Given the description of an element on the screen output the (x, y) to click on. 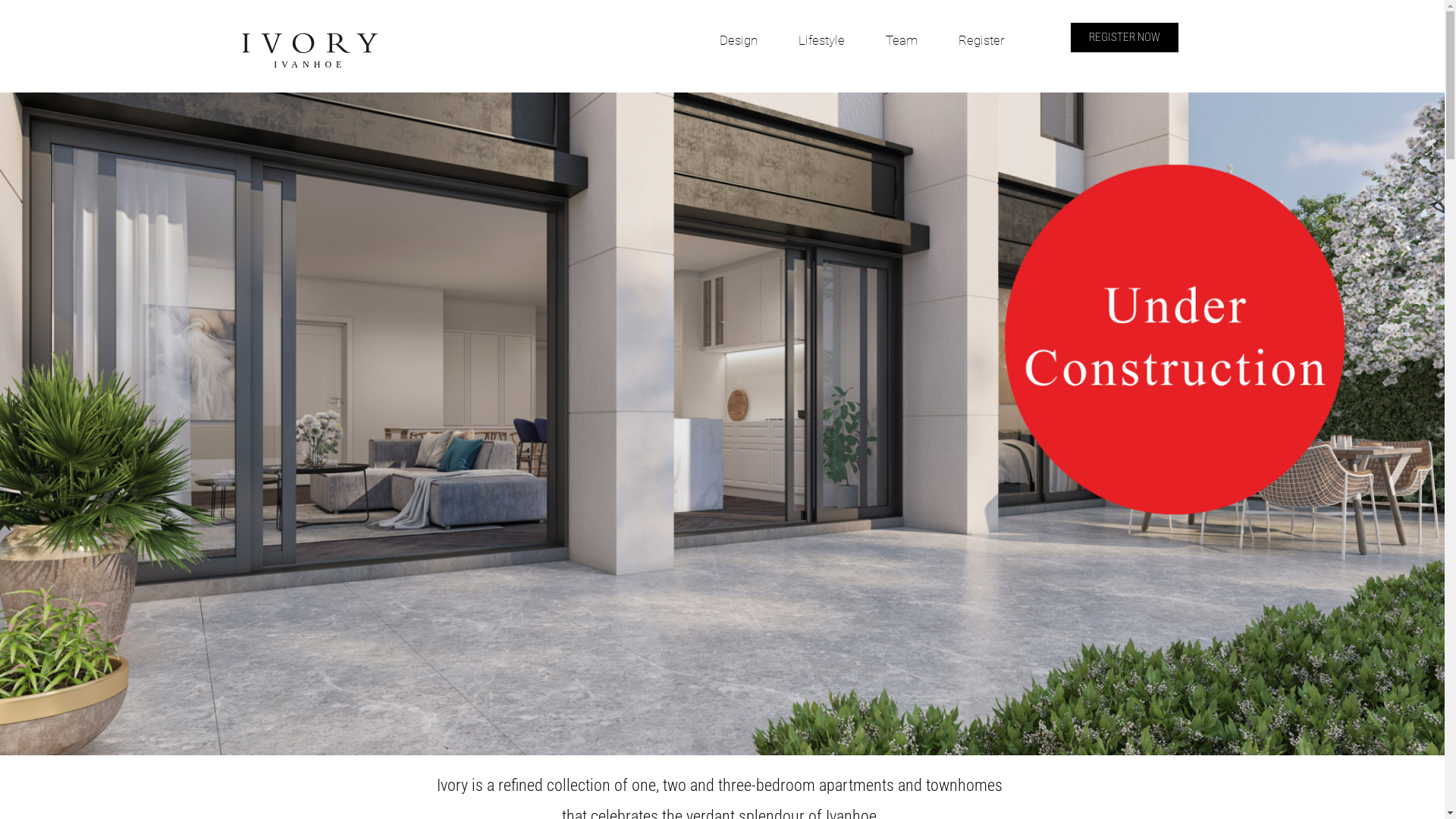
Register Element type: text (981, 39)
REGISTER NOW Element type: text (1124, 37)
Design Element type: text (738, 39)
Team Element type: text (901, 39)
Lifestyle Element type: text (821, 39)
